Given the description of an element on the screen output the (x, y) to click on. 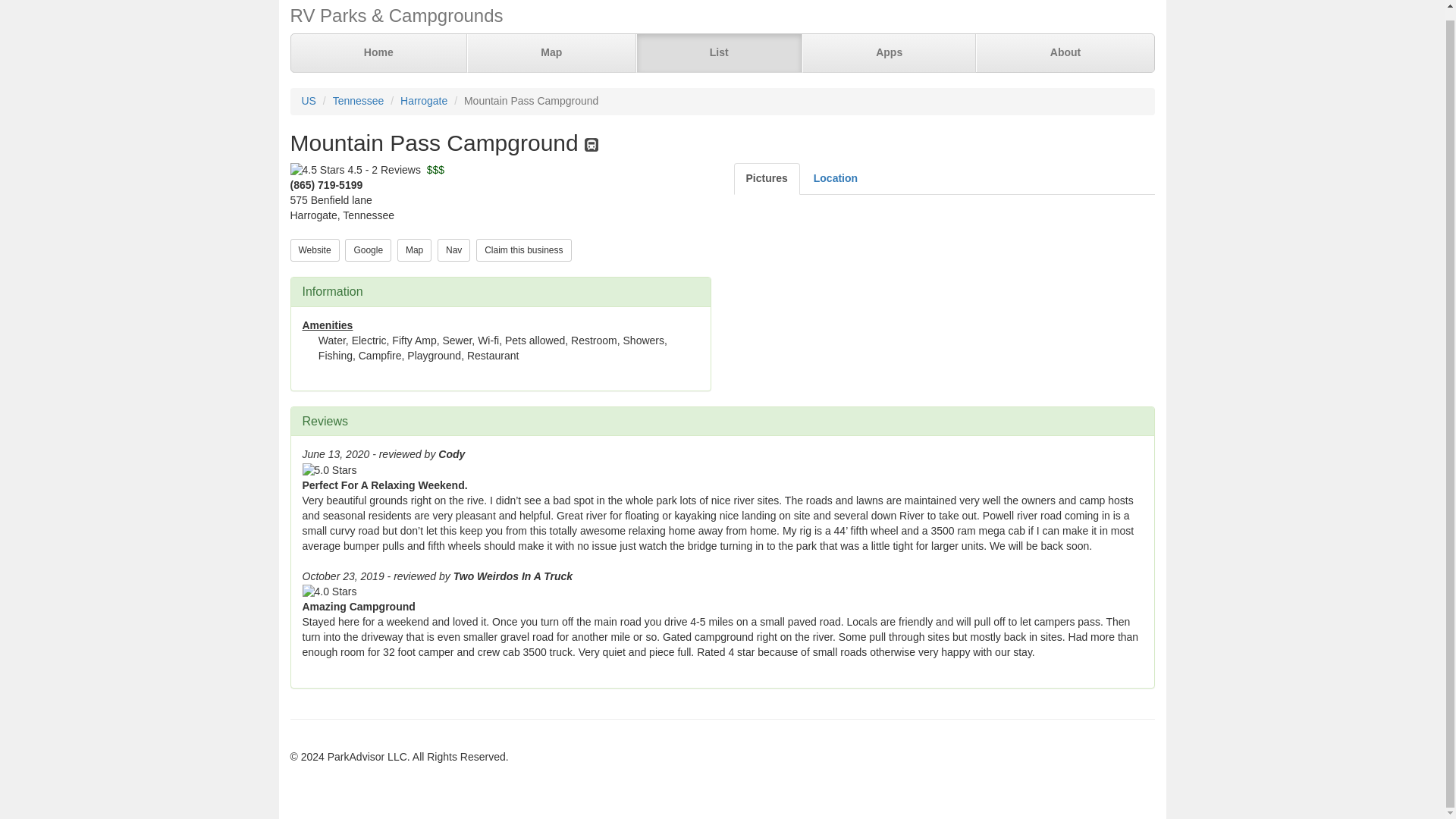
Harrogate (423, 101)
Google (368, 249)
Google (368, 250)
Website (314, 249)
Nav (454, 249)
List (718, 53)
Home (379, 53)
Map (413, 250)
Nav (454, 250)
Pictures (766, 178)
US (308, 101)
Location (835, 178)
Tennessee (358, 101)
About (1064, 53)
Claim this business (523, 249)
